Given the description of an element on the screen output the (x, y) to click on. 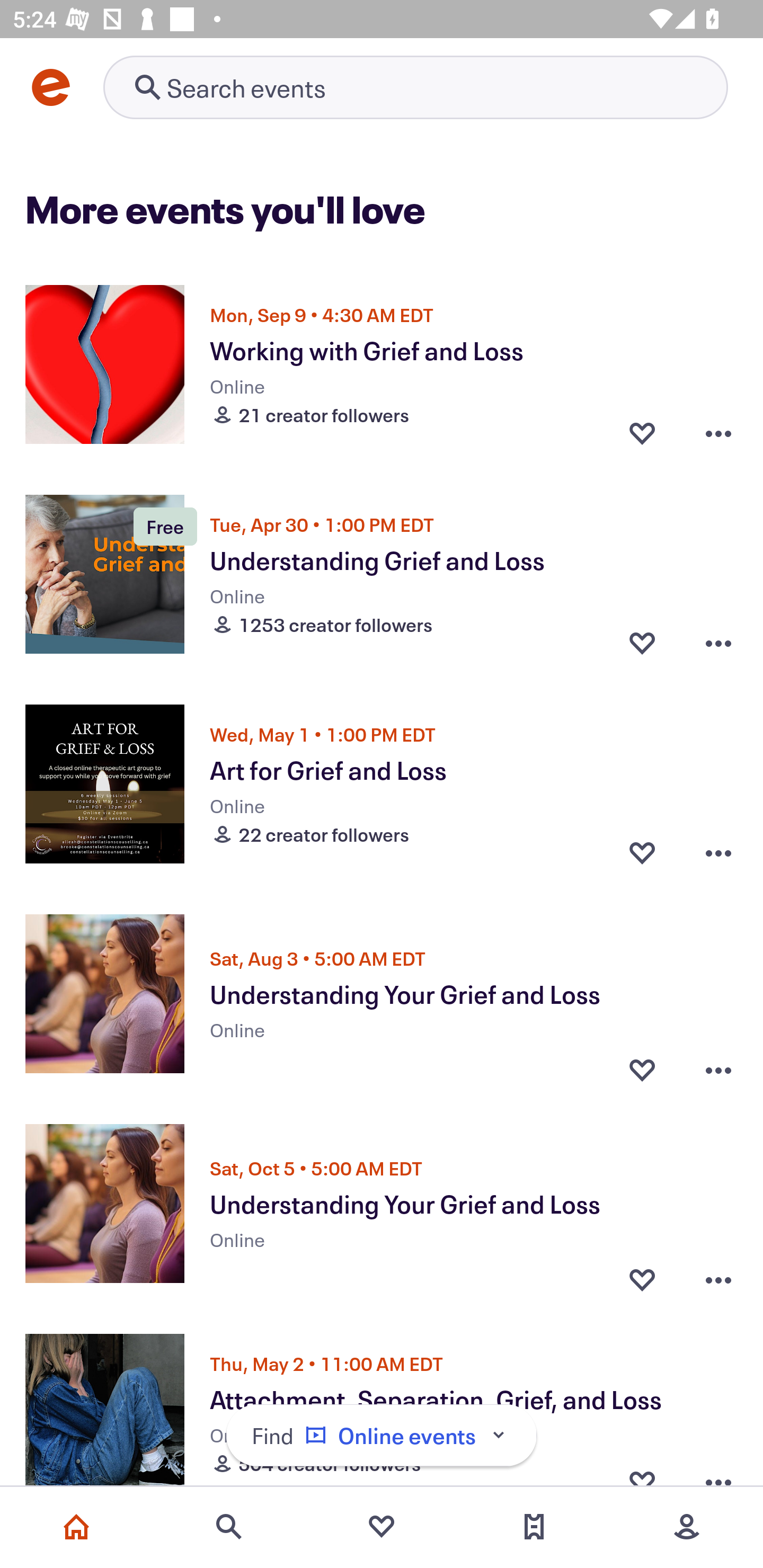
Retry's image Search events (415, 86)
Favorite button (642, 431)
Overflow menu button (718, 431)
Favorite button (642, 641)
Overflow menu button (718, 641)
Favorite button (642, 852)
Overflow menu button (718, 852)
Favorite button (642, 1065)
Overflow menu button (718, 1065)
Favorite button (642, 1274)
Overflow menu button (718, 1274)
Find Online events (381, 1435)
Home (76, 1526)
Search events (228, 1526)
Favorites (381, 1526)
Tickets (533, 1526)
More (686, 1526)
